Given the description of an element on the screen output the (x, y) to click on. 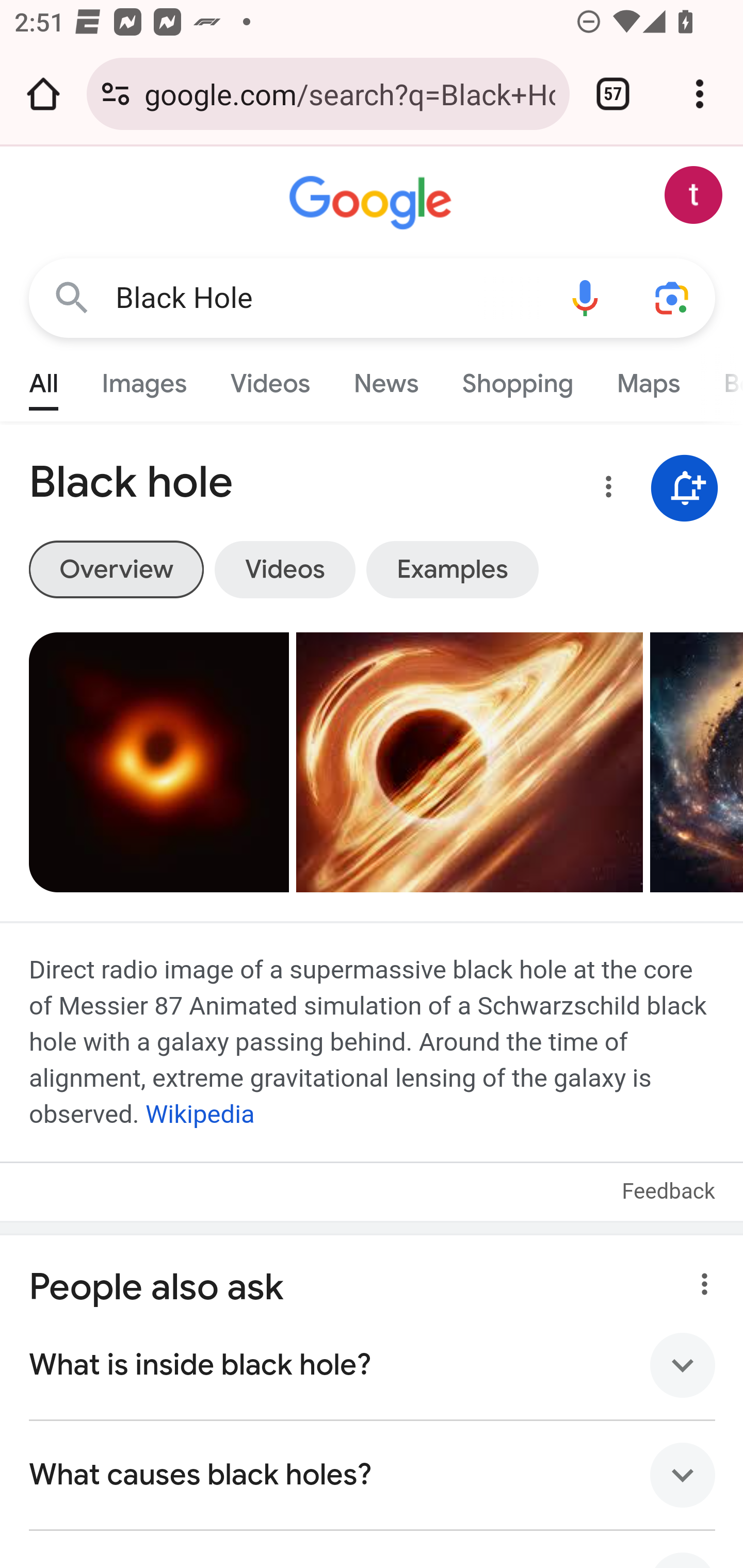
Open the home page (43, 93)
Connection is secure (115, 93)
Switch or close tabs (612, 93)
Customize and control Google Chrome (699, 93)
